Given the description of an element on the screen output the (x, y) to click on. 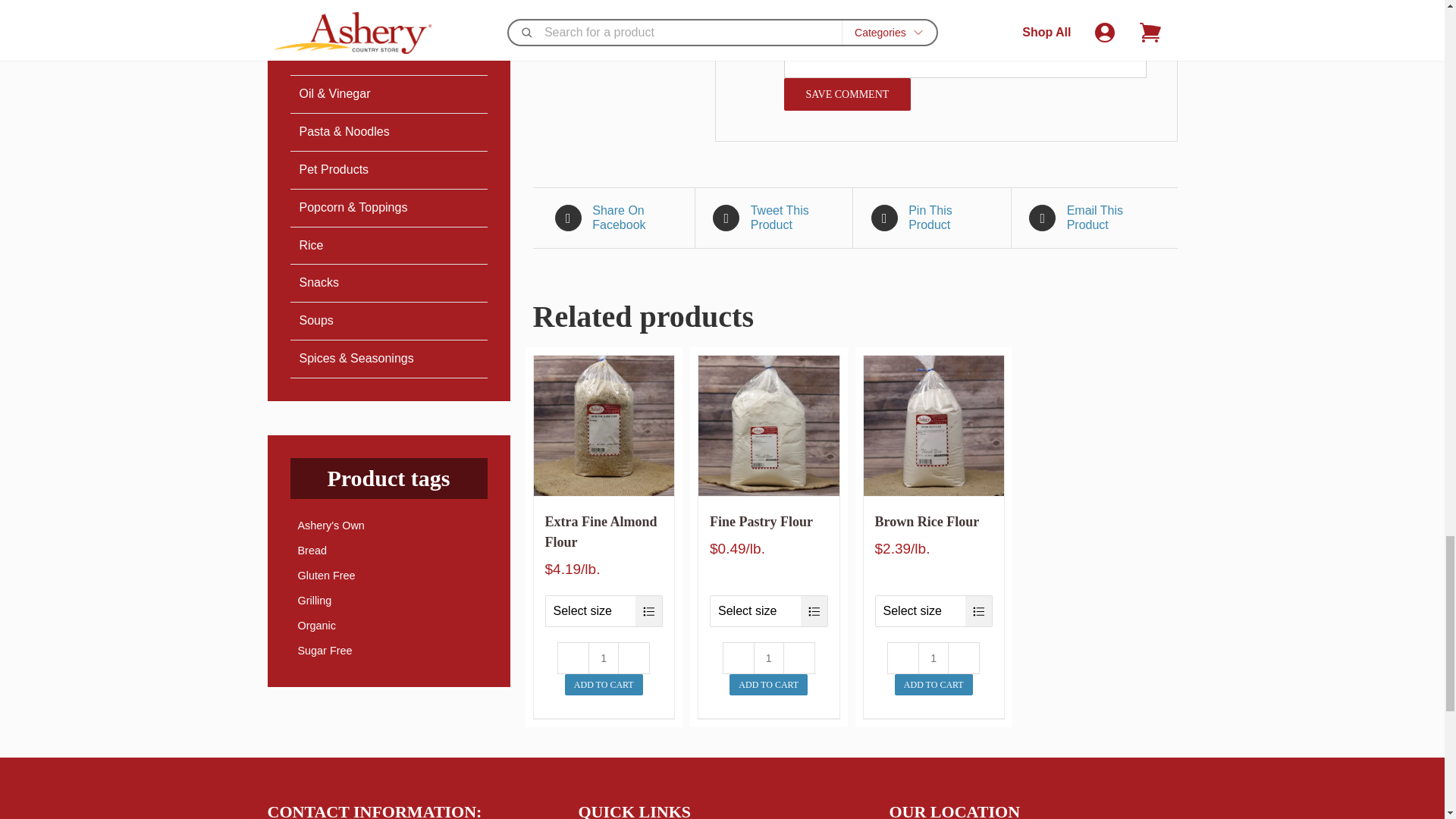
1 (933, 657)
1 (603, 657)
1 (769, 657)
